Given the description of an element on the screen output the (x, y) to click on. 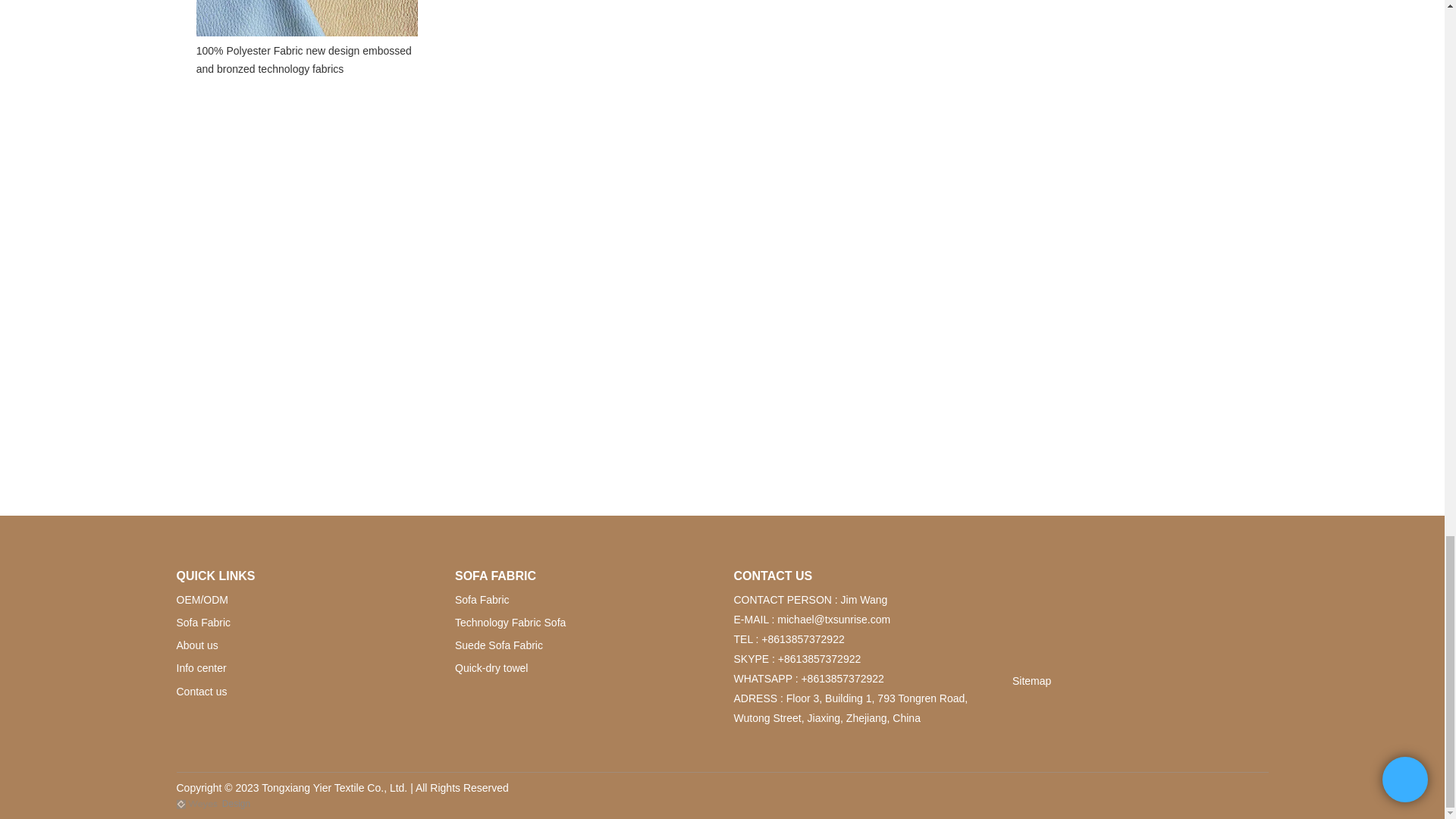
Info center (200, 667)
Contact us (201, 691)
Sofa Fabric (203, 622)
Sofa Fabric (481, 599)
About us (196, 645)
